Given the description of an element on the screen output the (x, y) to click on. 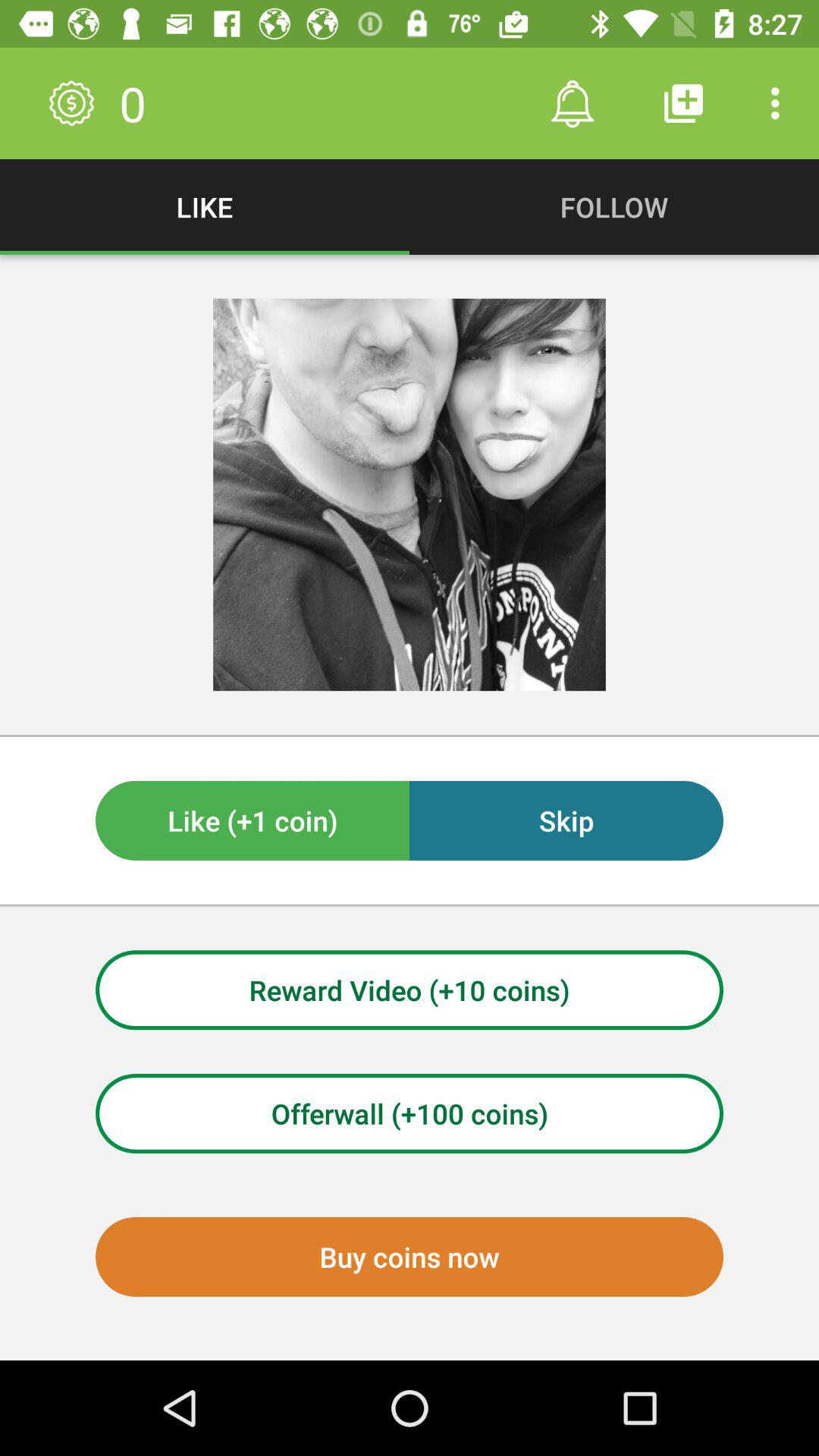
press the buy coins now icon (409, 1256)
